Given the description of an element on the screen output the (x, y) to click on. 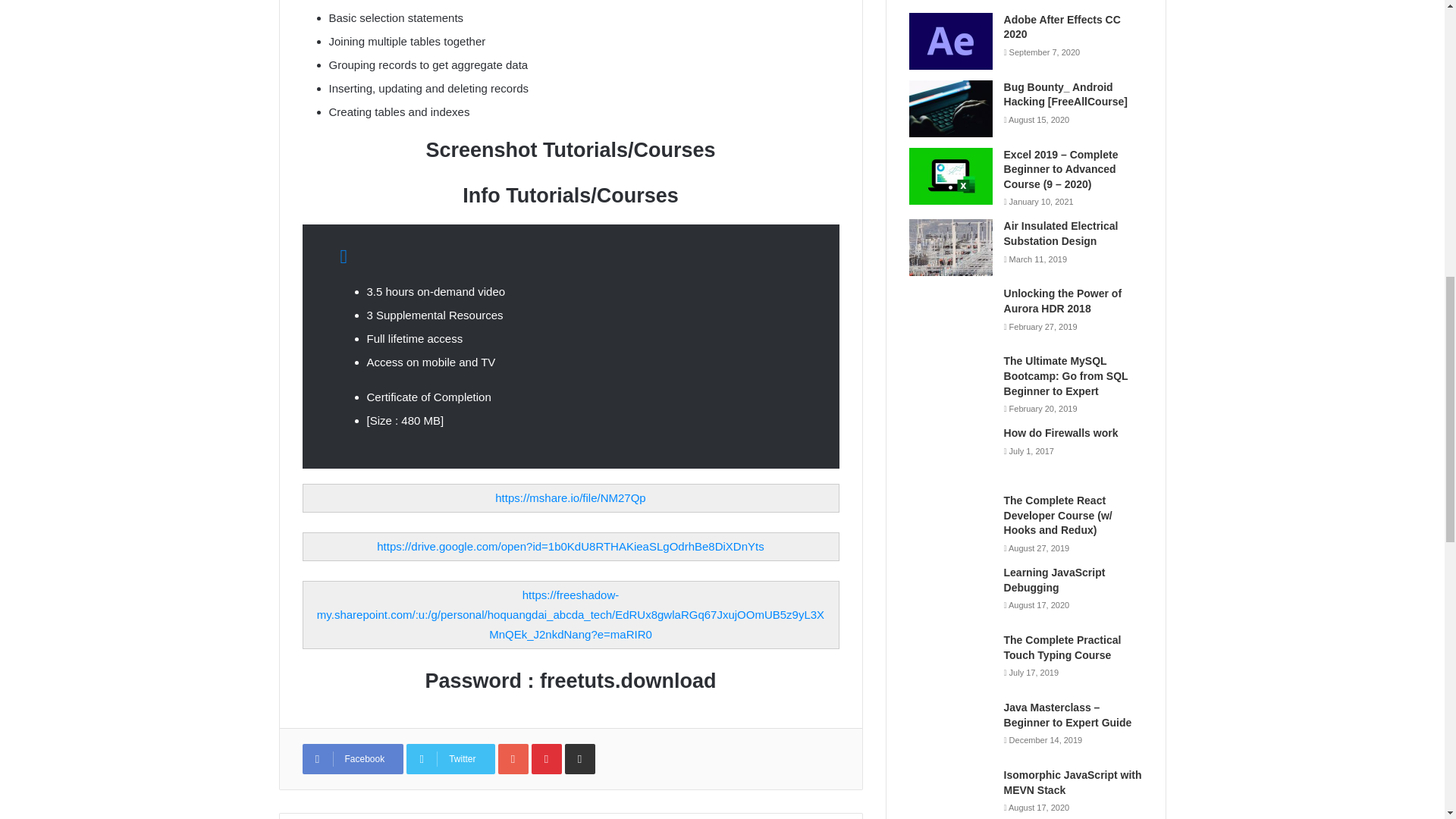
Twitter (450, 758)
Pinterest (546, 758)
Facebook (352, 758)
Share via Email (579, 758)
